Given the description of an element on the screen output the (x, y) to click on. 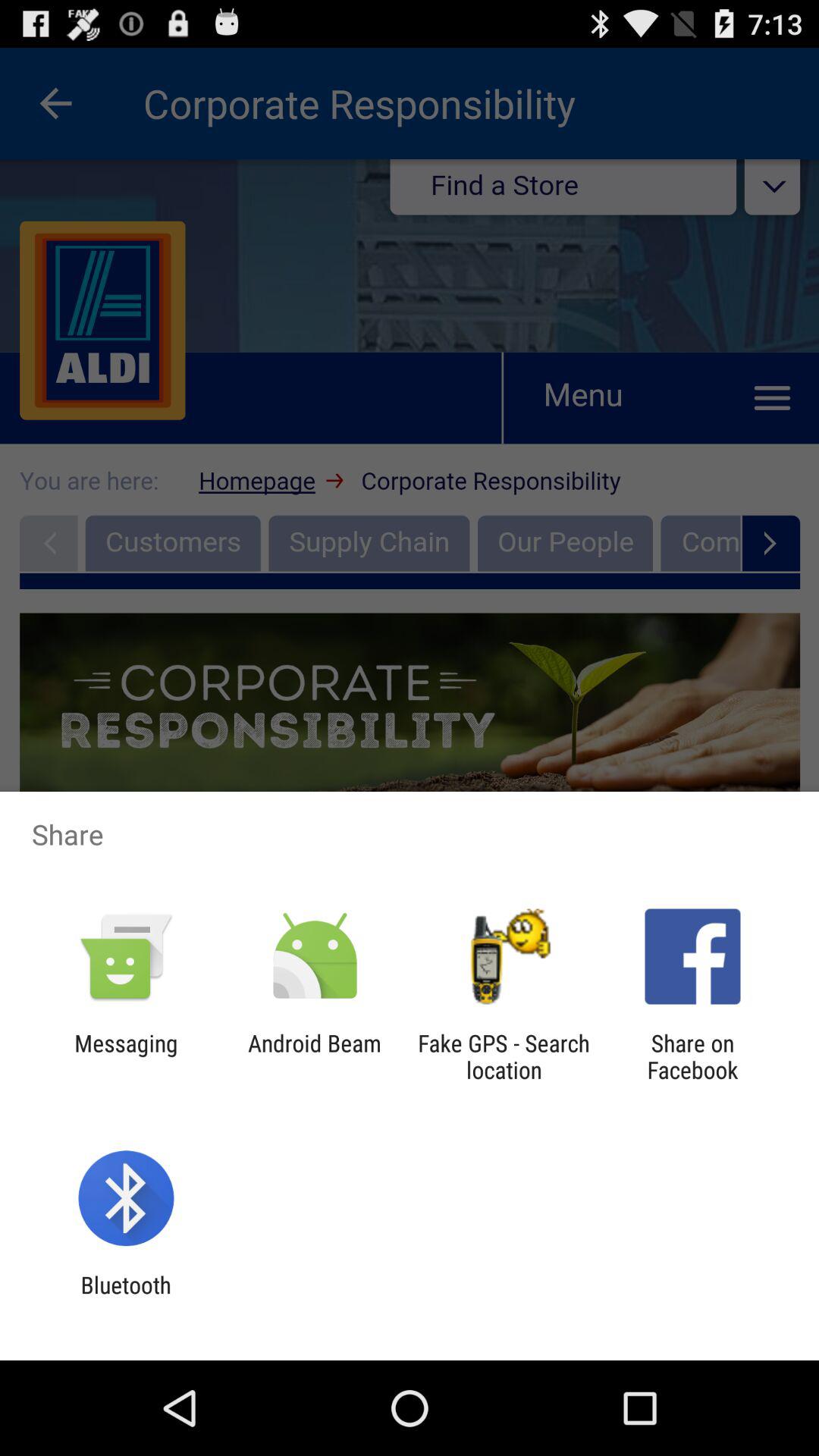
swipe to android beam app (314, 1056)
